Given the description of an element on the screen output the (x, y) to click on. 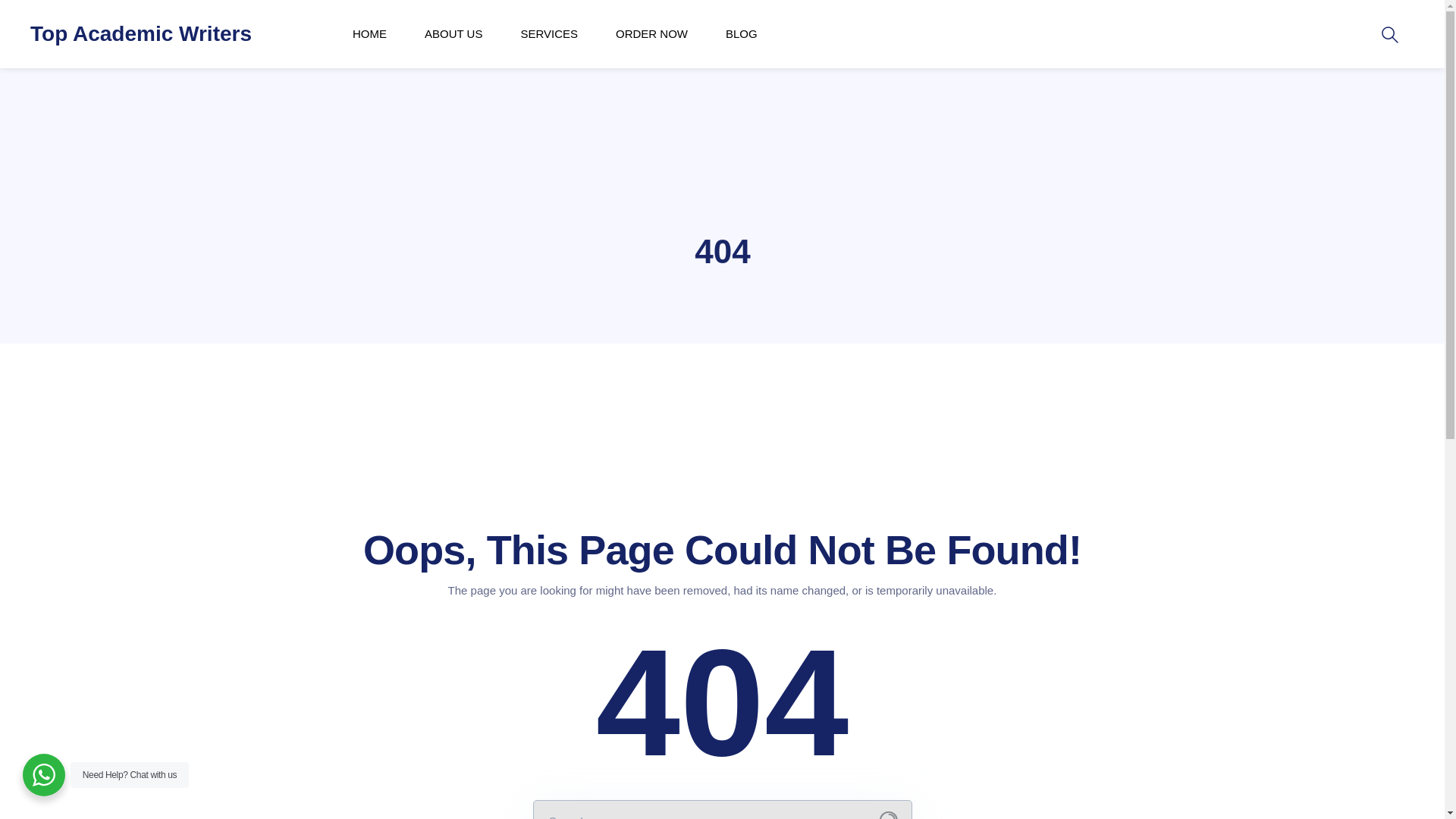
Search... (888, 815)
ABOUT US (453, 33)
HOME (369, 33)
SERVICES (548, 33)
BLOG (741, 33)
Top Academic Writers (140, 33)
Search (9, 9)
ORDER NOW (651, 33)
Need Help? Chat with us (44, 774)
